Given the description of an element on the screen output the (x, y) to click on. 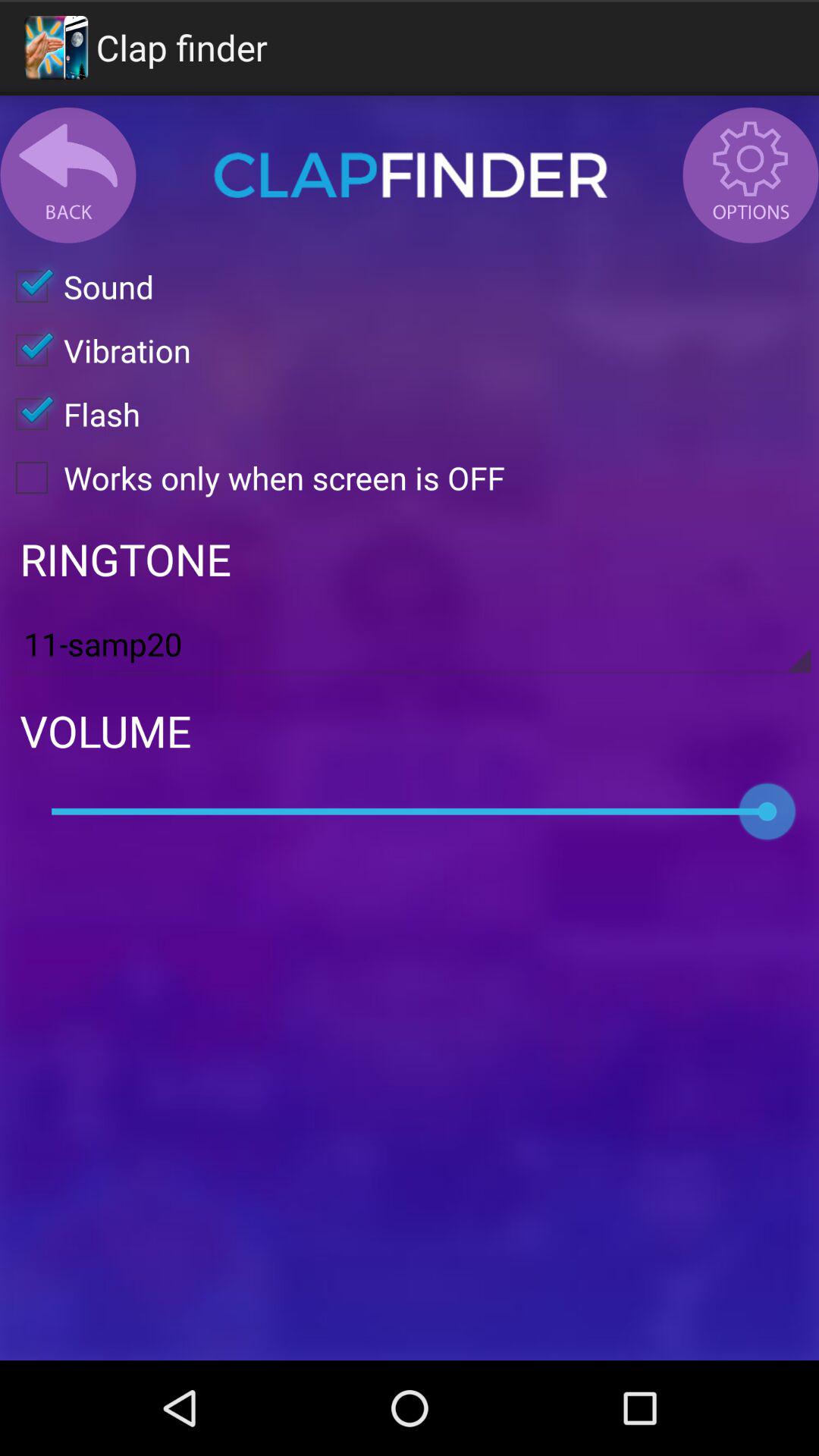
jump until the works only when item (252, 477)
